Given the description of an element on the screen output the (x, y) to click on. 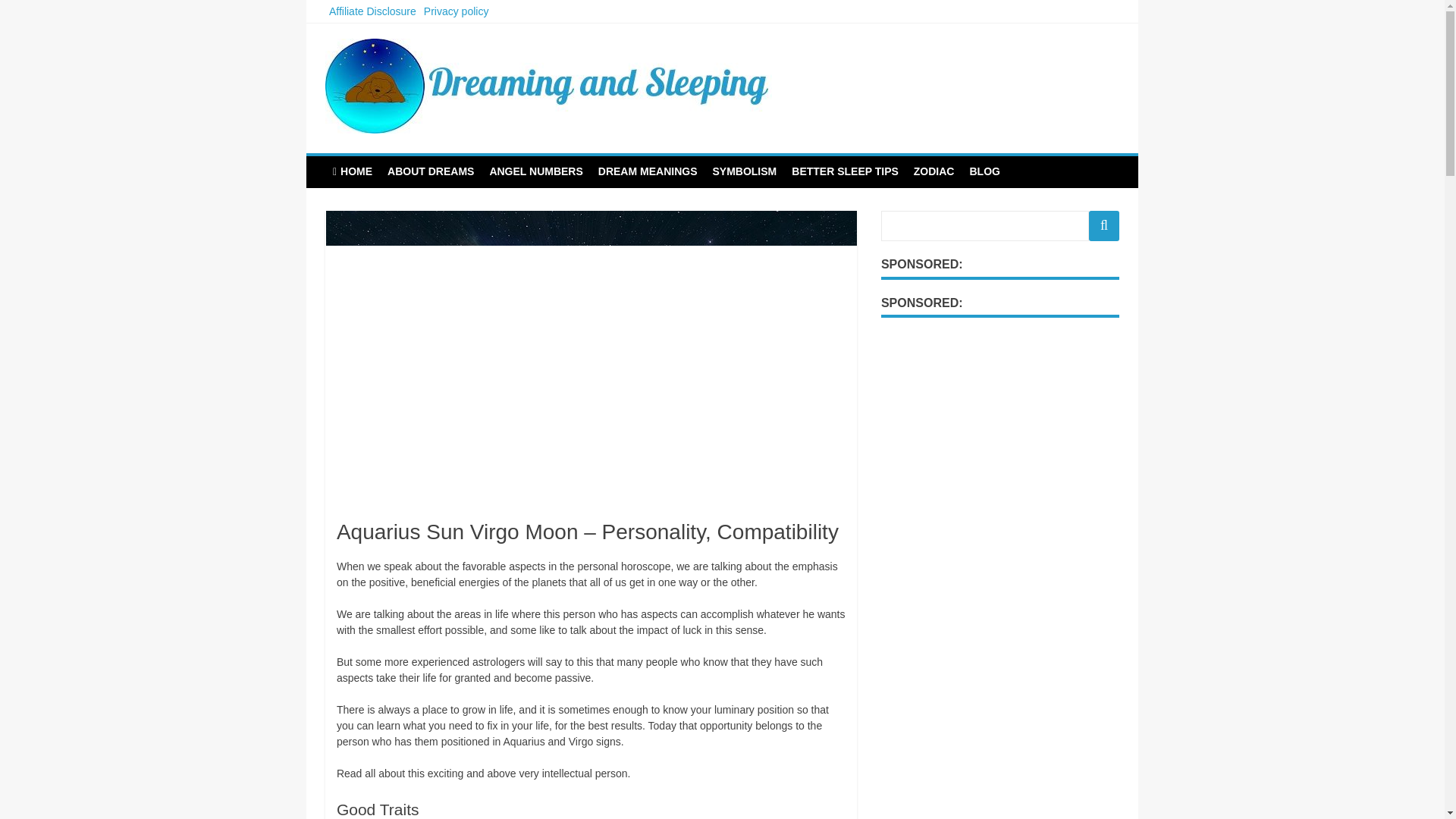
Privacy policy (456, 11)
ANGEL NUMBERS (535, 171)
ABOUT DREAMS (430, 171)
ZODIAC (933, 171)
HOME (352, 172)
BLOG (983, 171)
Dreaming and Sleeping (451, 149)
DREAM MEANINGS (647, 171)
BETTER SLEEP TIPS (844, 171)
SYMBOLISM (744, 171)
Affiliate Disclosure (372, 11)
